Given the description of an element on the screen output the (x, y) to click on. 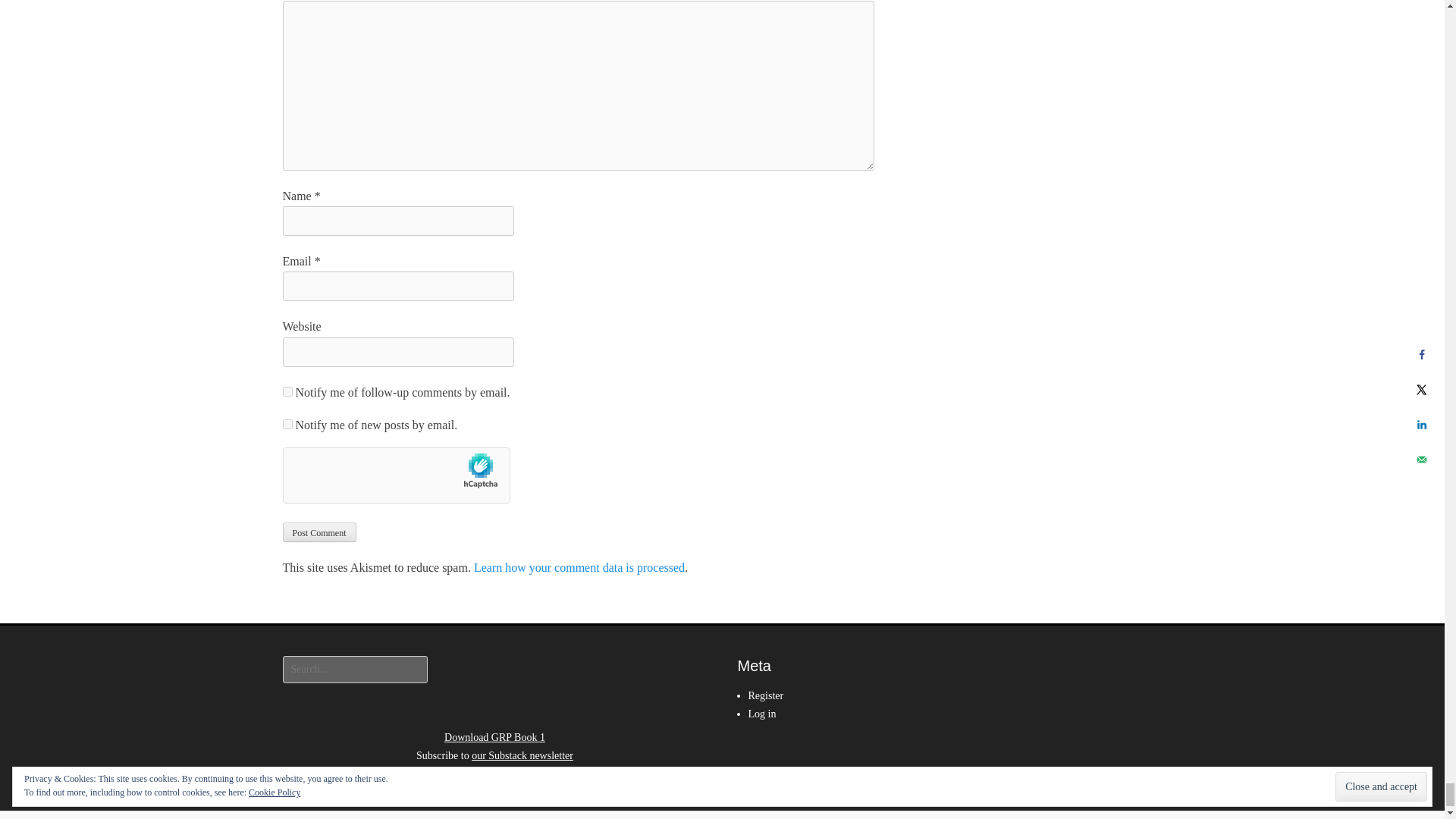
subscribe (287, 424)
subscribe (287, 391)
Post Comment (318, 532)
